Given the description of an element on the screen output the (x, y) to click on. 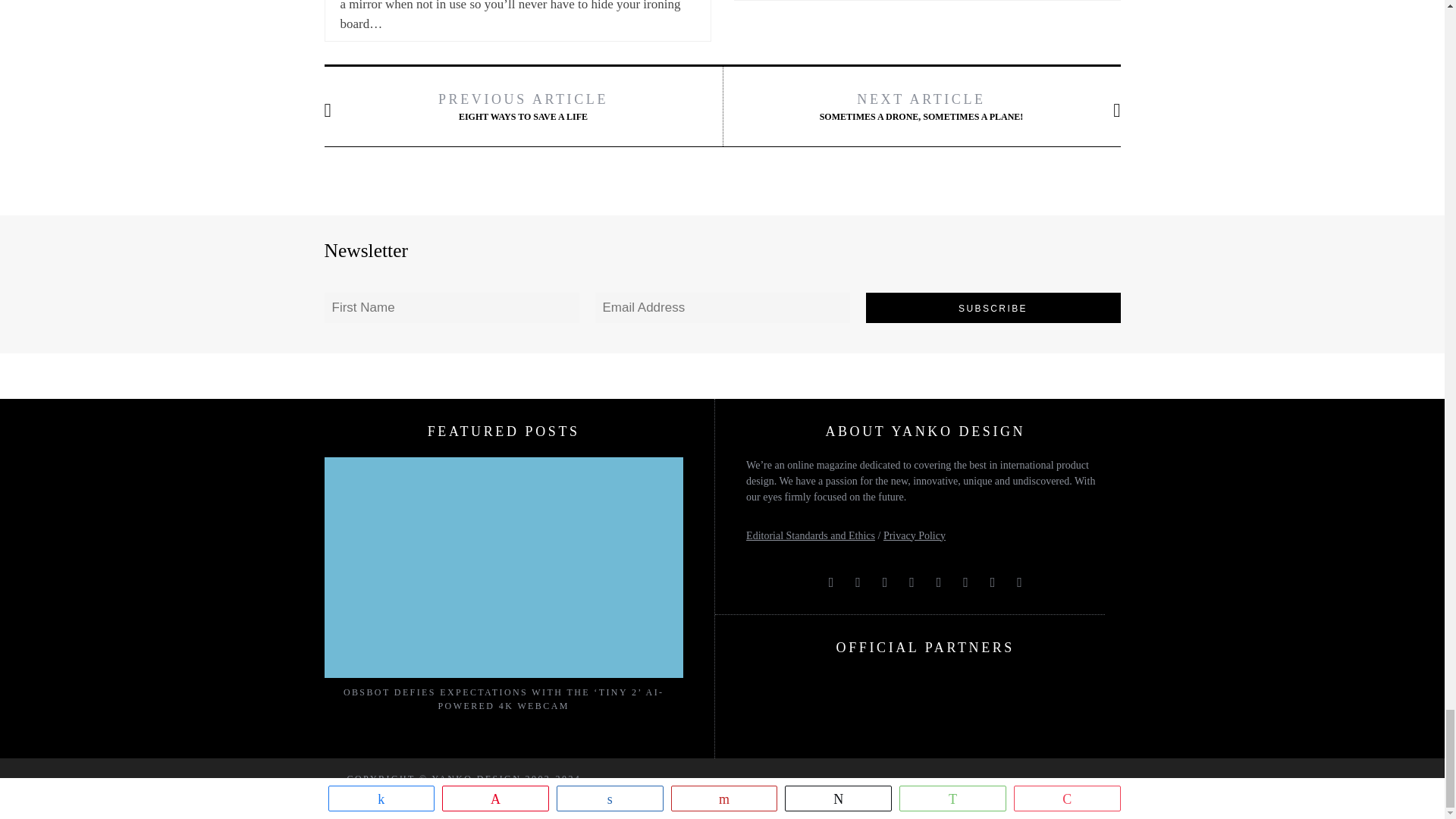
Subscribe (993, 307)
Privacy Policy (913, 535)
Editorial Standards and Ethics (810, 535)
